Given the description of an element on the screen output the (x, y) to click on. 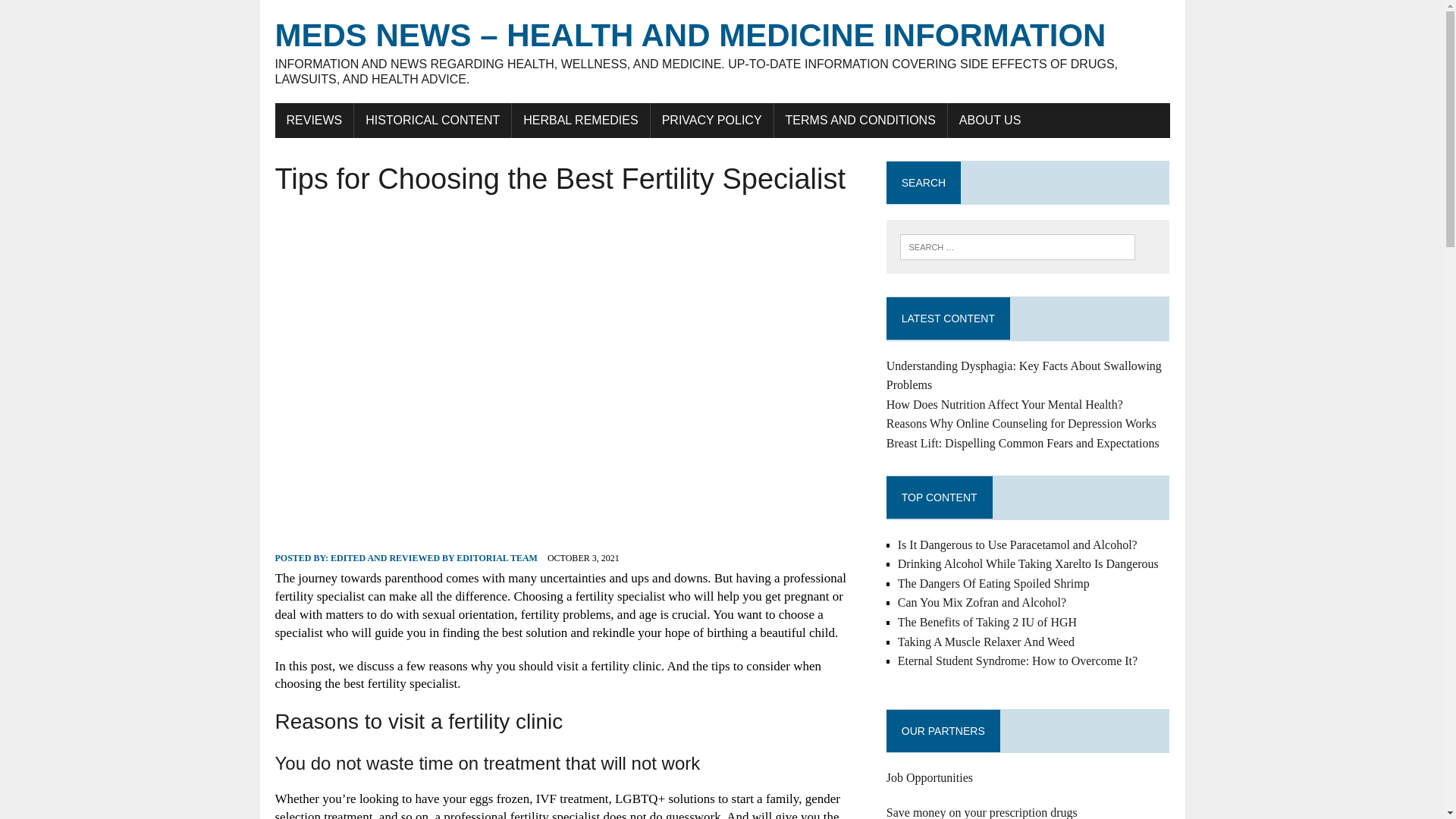
Save money on your prescription drugs (981, 812)
PRIVACY POLICY (711, 120)
REVIEWS (314, 120)
TERMS AND CONDITIONS (860, 120)
Is It Dangerous to Use Paracetamol and Alcohol? (1017, 544)
Can You Mix Zofran and Alcohol? (981, 602)
HERBAL REMEDIES (580, 120)
Taking A Muscle Relaxer And Weed (986, 641)
Breast Lift: Dispelling Common Fears and Expectations (1022, 442)
The Dangers Of Eating Spoiled Shrimp (993, 583)
Drinking Alcohol While Taking Xarelto Is Dangerous (1028, 563)
Search (75, 14)
Job Opportunities (929, 777)
How Does Nutrition Affect Your Mental Health? (1004, 404)
Eternal Student Syndrome: How to Overcome It? (1017, 660)
